Given the description of an element on the screen output the (x, y) to click on. 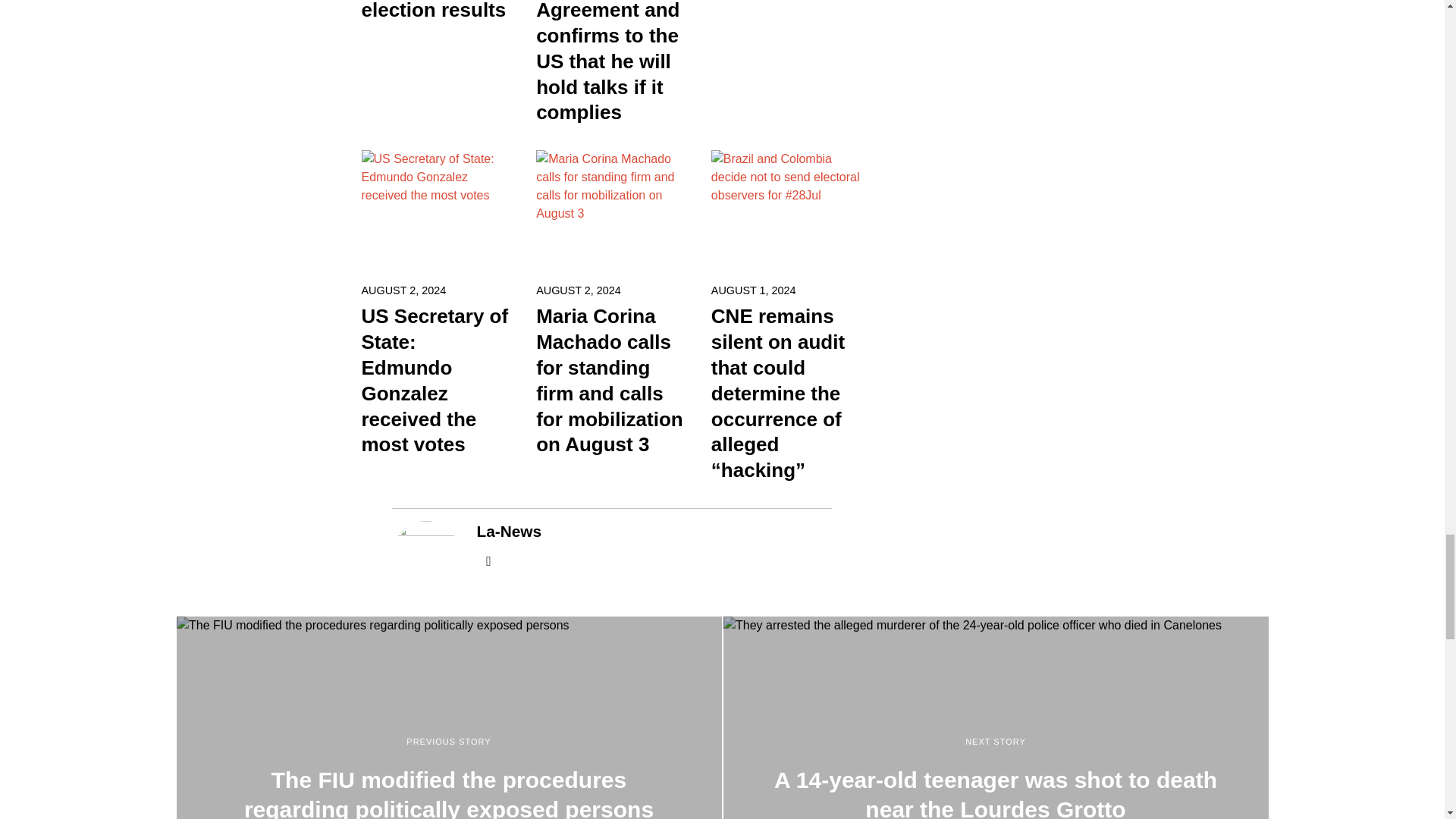
01 Aug, 2024 22:21:12 (753, 290)
02 Aug, 2024 02:12:17 (403, 290)
02 Aug, 2024 00:06:14 (578, 290)
